Given the description of an element on the screen output the (x, y) to click on. 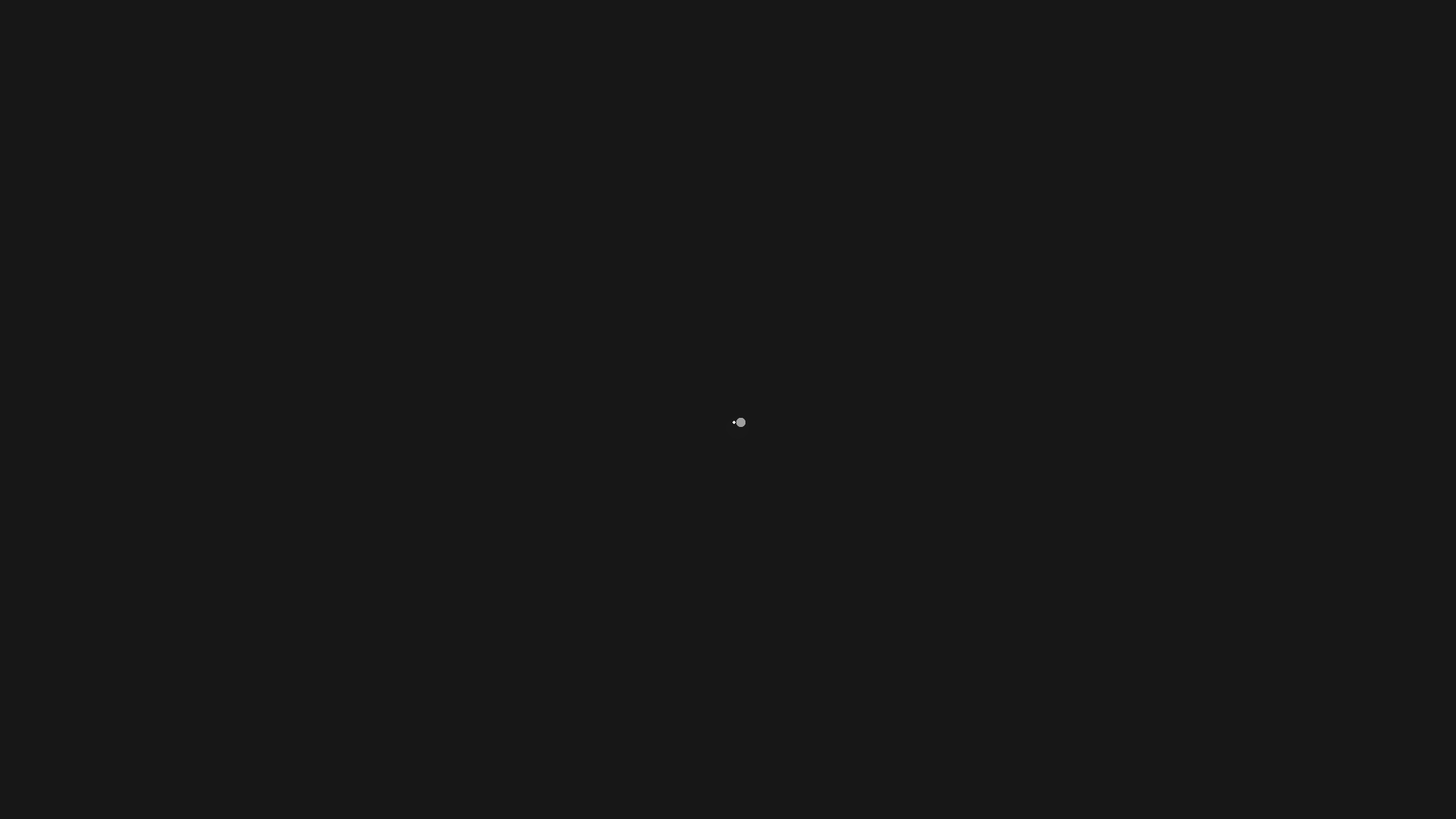
Instagram Element type: hover (727, 555)
Linked In Element type: hover (683, 555)
Facebook Element type: hover (771, 555)
